Given the description of an element on the screen output the (x, y) to click on. 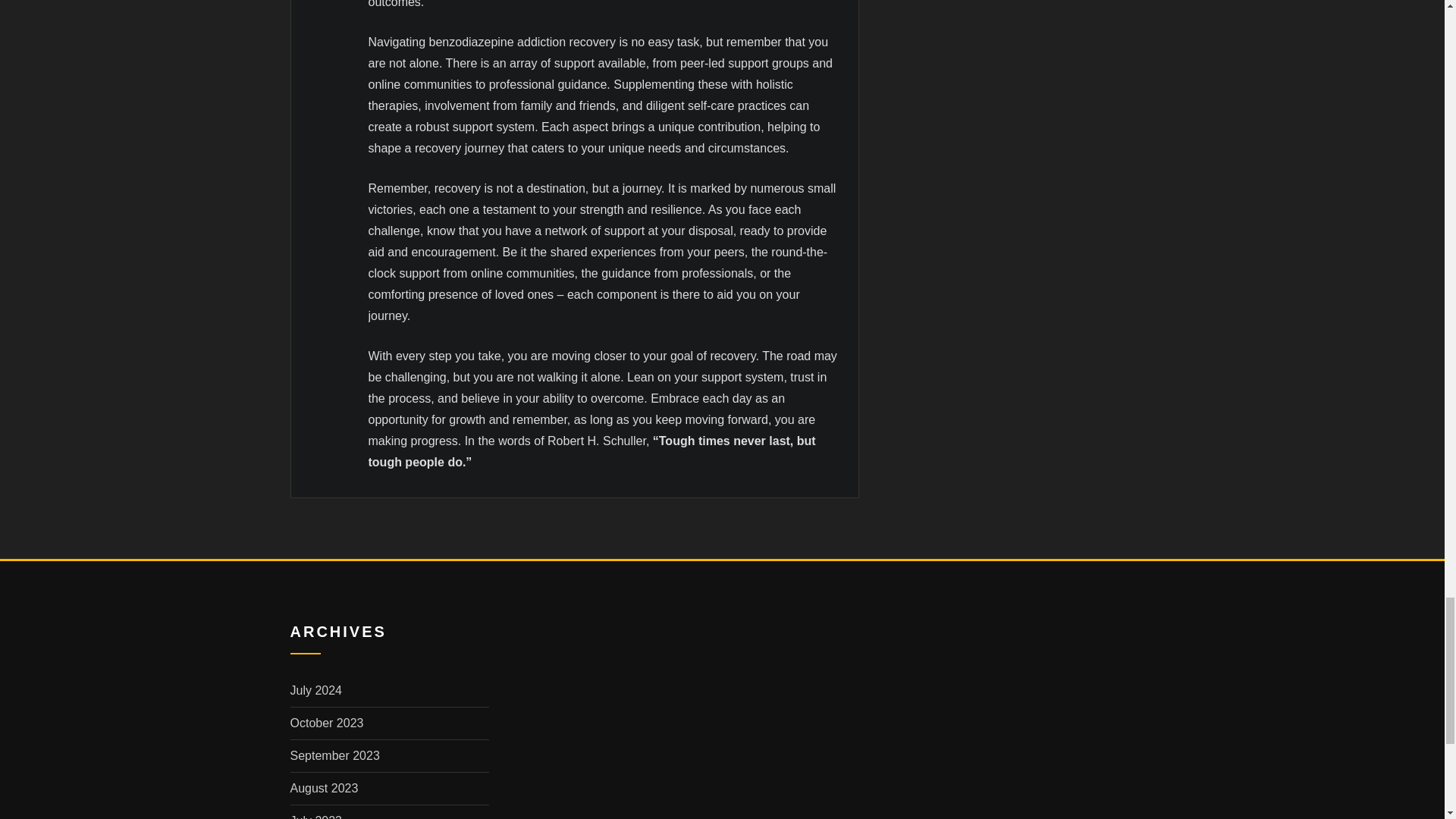
July 2023 (315, 816)
August 2023 (323, 788)
September 2023 (333, 755)
October 2023 (325, 722)
July 2024 (315, 689)
